Given the description of an element on the screen output the (x, y) to click on. 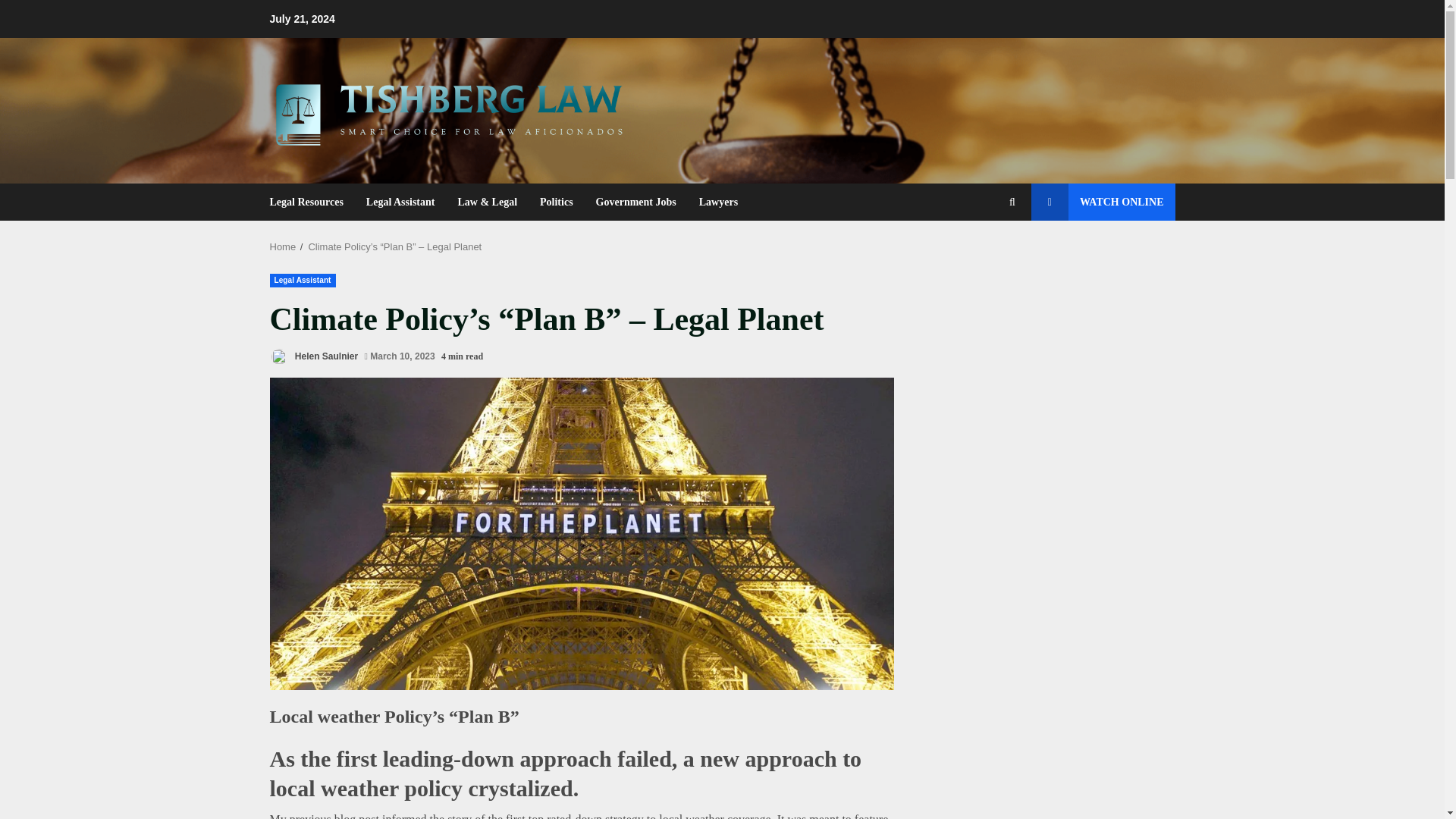
Home (283, 246)
Legal Resources (312, 201)
Helen Saulnier (313, 356)
Government Jobs (636, 201)
Search (984, 253)
Legal Assistant (302, 280)
Politics (556, 201)
Lawyers (712, 201)
WATCH ONLINE (1102, 201)
Legal Assistant (400, 201)
